Given the description of an element on the screen output the (x, y) to click on. 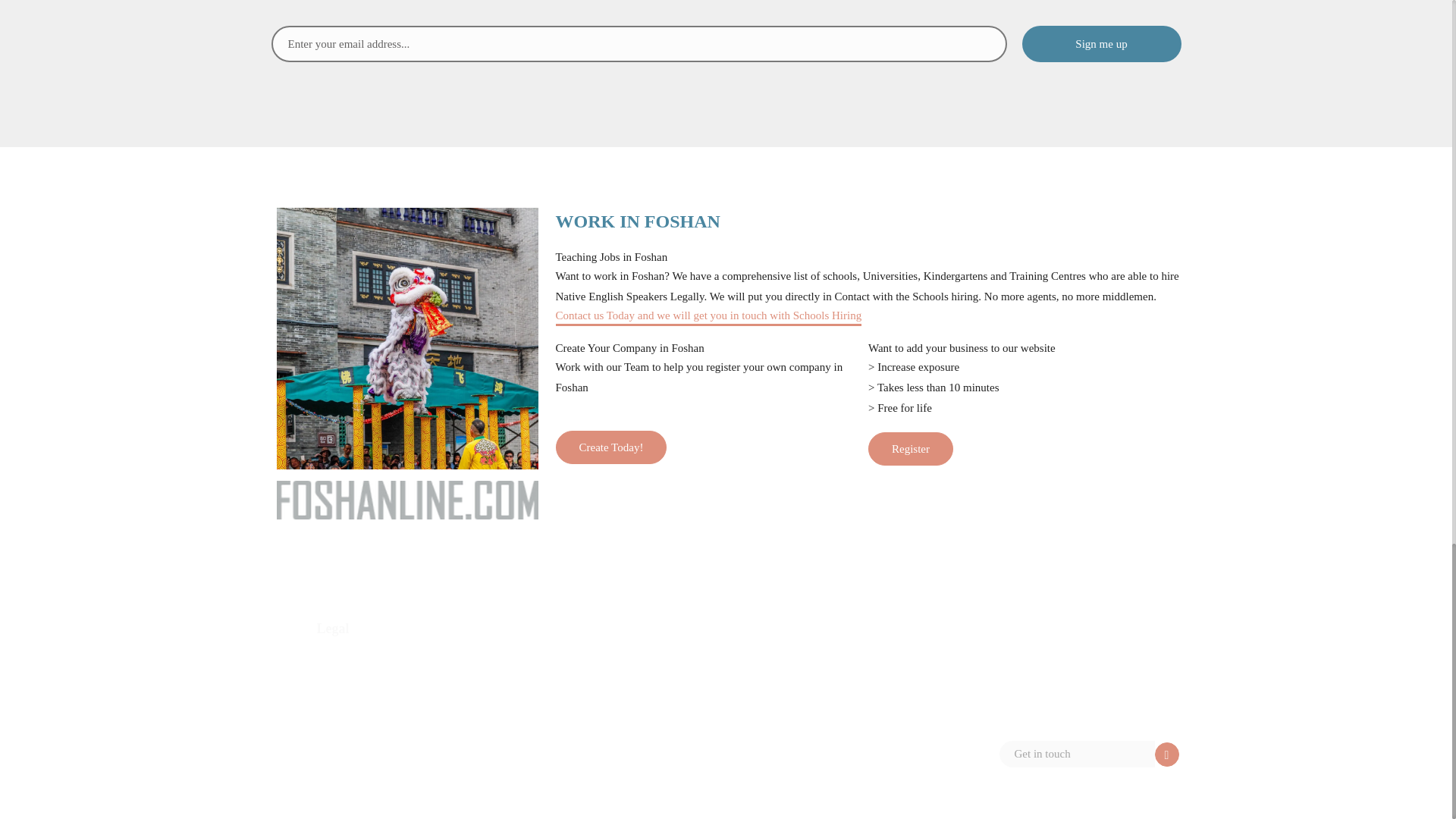
Get in touch (1076, 754)
Sign me up (1101, 43)
Enter your email address... (638, 43)
